Given the description of an element on the screen output the (x, y) to click on. 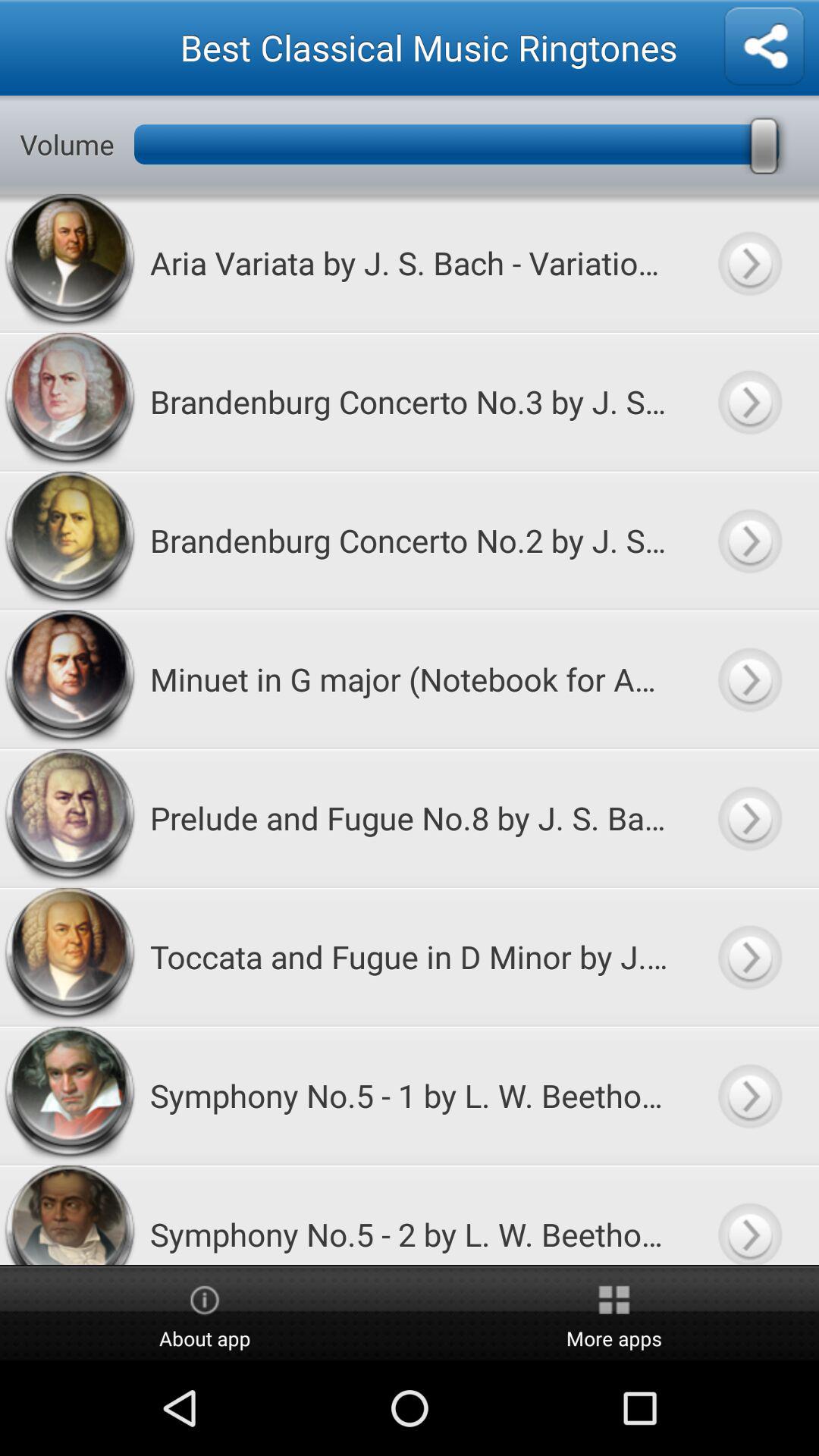
view audio information (749, 401)
